Given the description of an element on the screen output the (x, y) to click on. 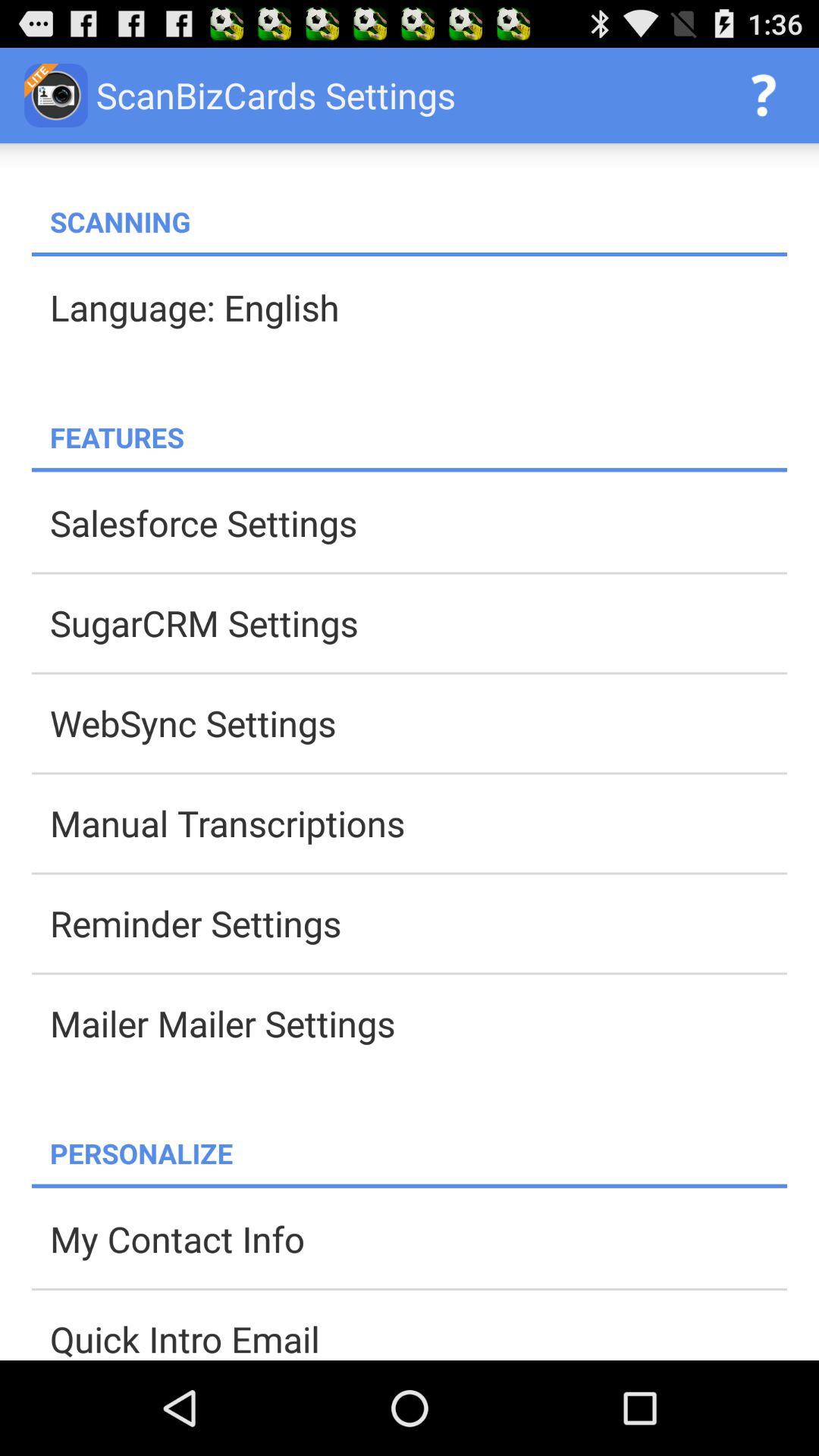
turn on the icon below the features icon (409, 470)
